Given the description of an element on the screen output the (x, y) to click on. 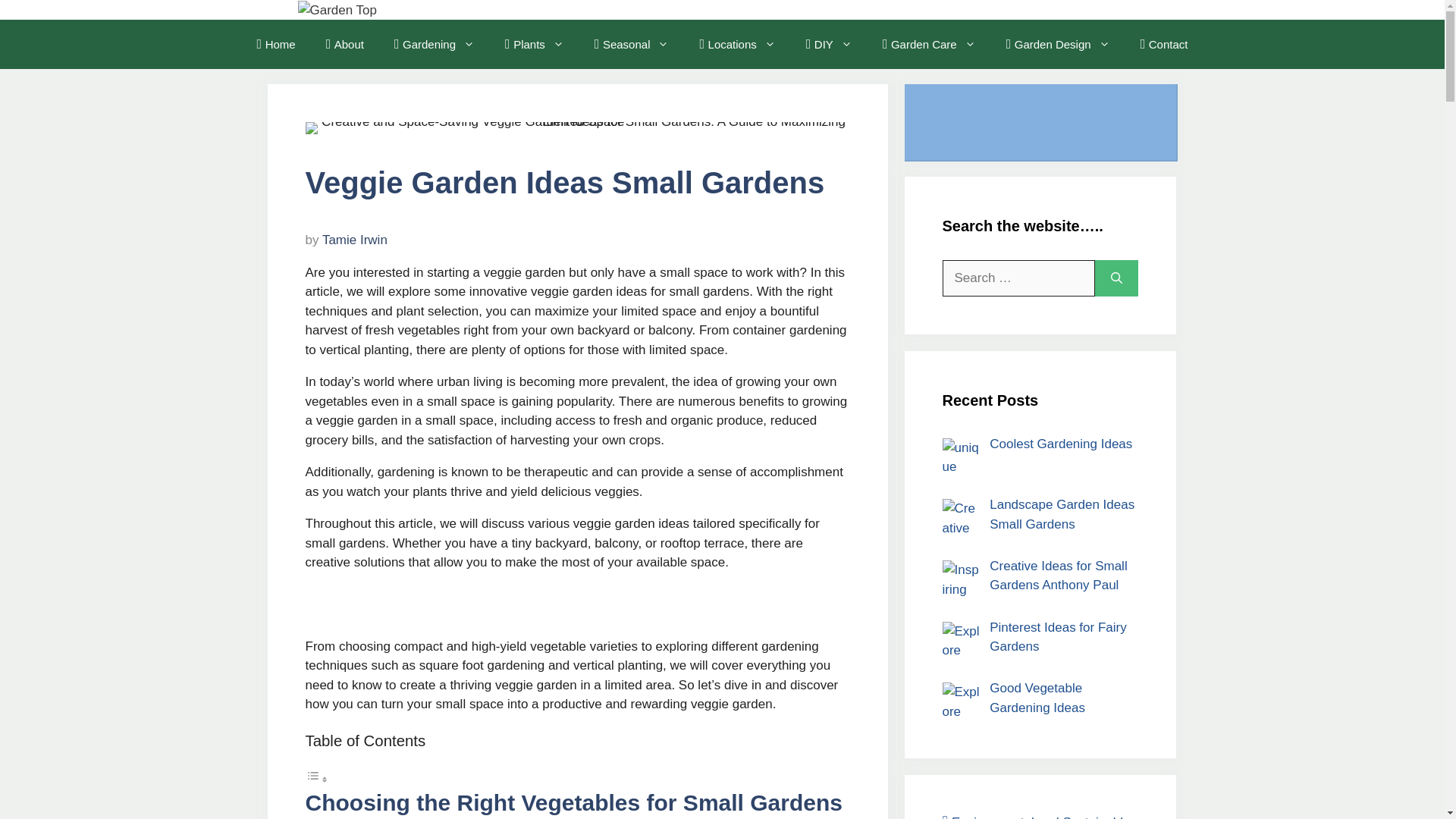
Veggie Garden Ideas Small Gardens 1 (576, 128)
View all posts by Tamie Irwin (354, 239)
